Given the description of an element on the screen output the (x, y) to click on. 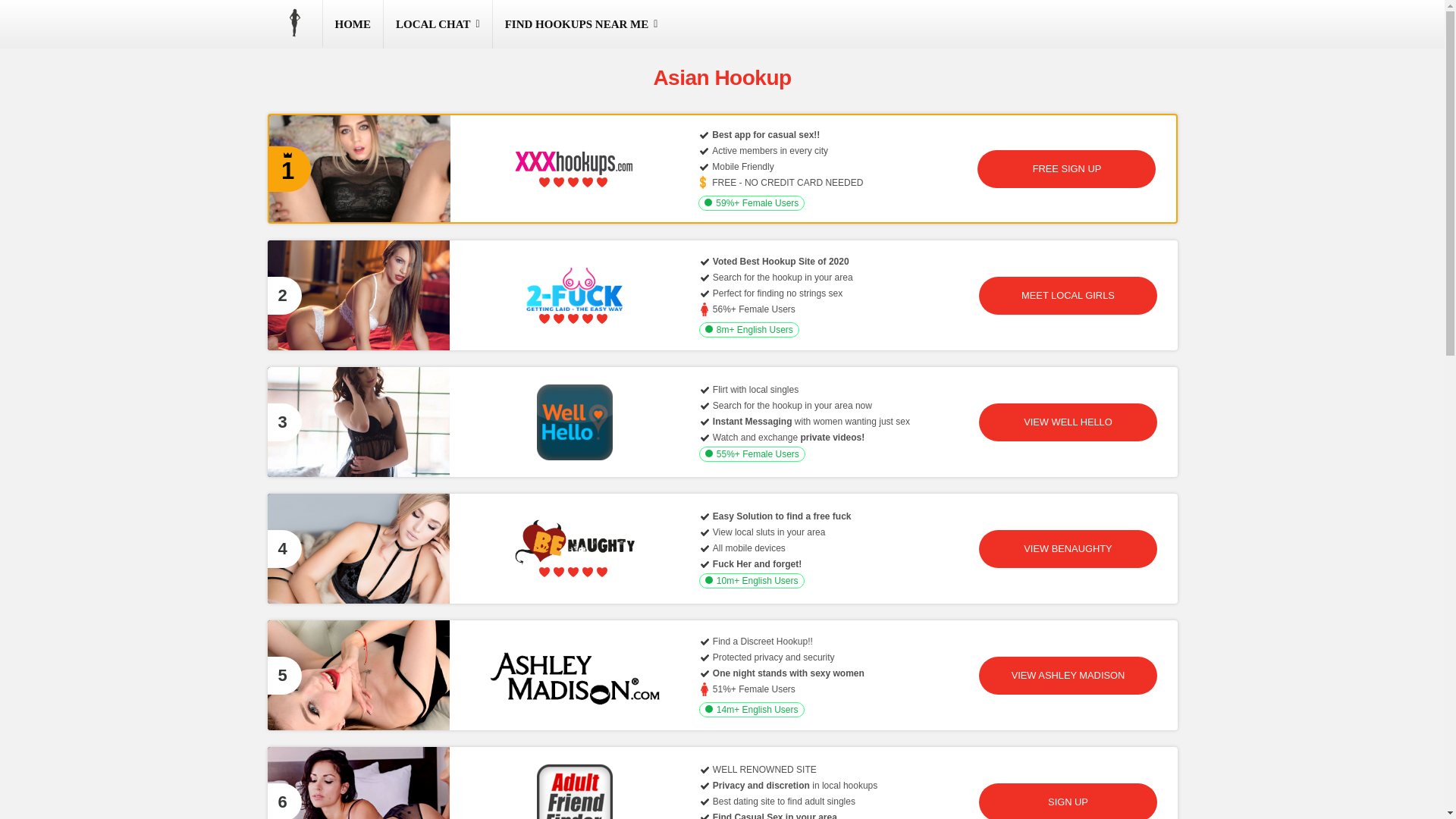
HOME (353, 24)
FIND HOOKUPS NEAR ME (581, 24)
LOCAL CHAT (438, 24)
